Given the description of an element on the screen output the (x, y) to click on. 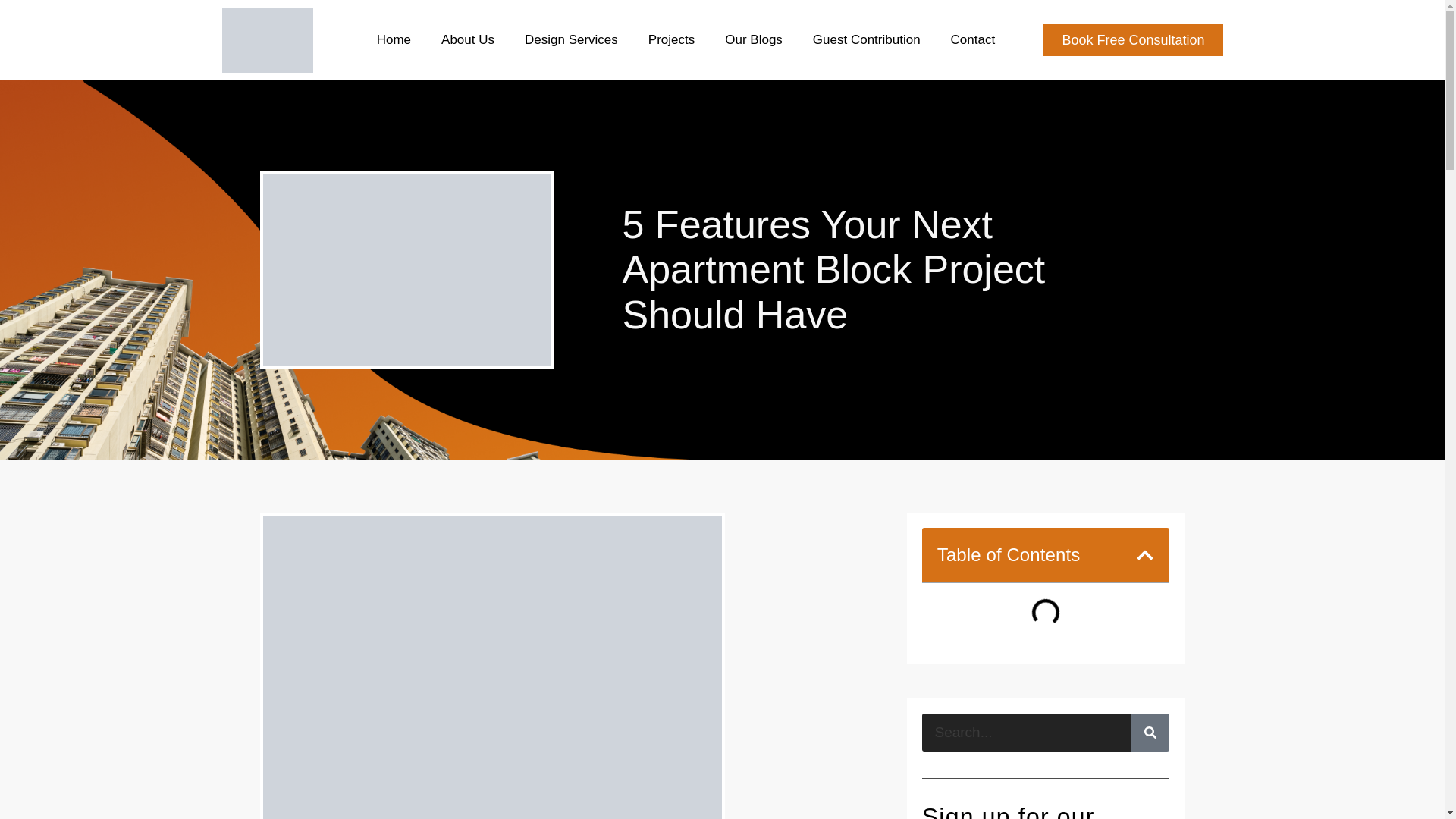
Book Free Consultation (1133, 40)
Contact (973, 39)
Home (393, 39)
Our Blogs (753, 39)
Projects (671, 39)
Guest Contribution (866, 39)
Design Services (570, 39)
About Us (467, 39)
